Given the description of an element on the screen output the (x, y) to click on. 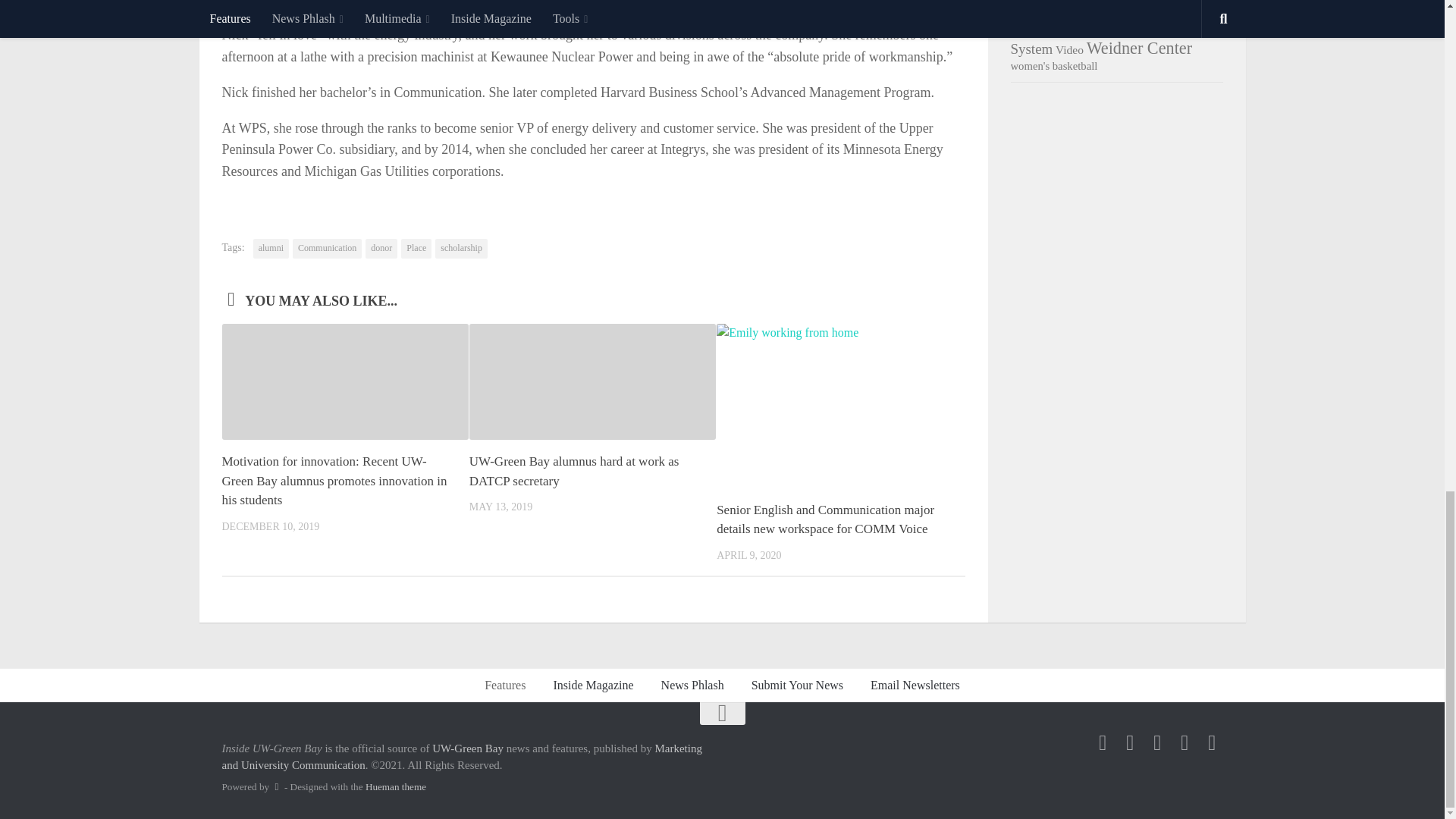
scholarship (461, 248)
UW-Green Bay alumnus hard at work as DATCP secretary (573, 471)
Communication (326, 248)
Place (415, 248)
donor (381, 248)
alumni (270, 248)
